Given the description of an element on the screen output the (x, y) to click on. 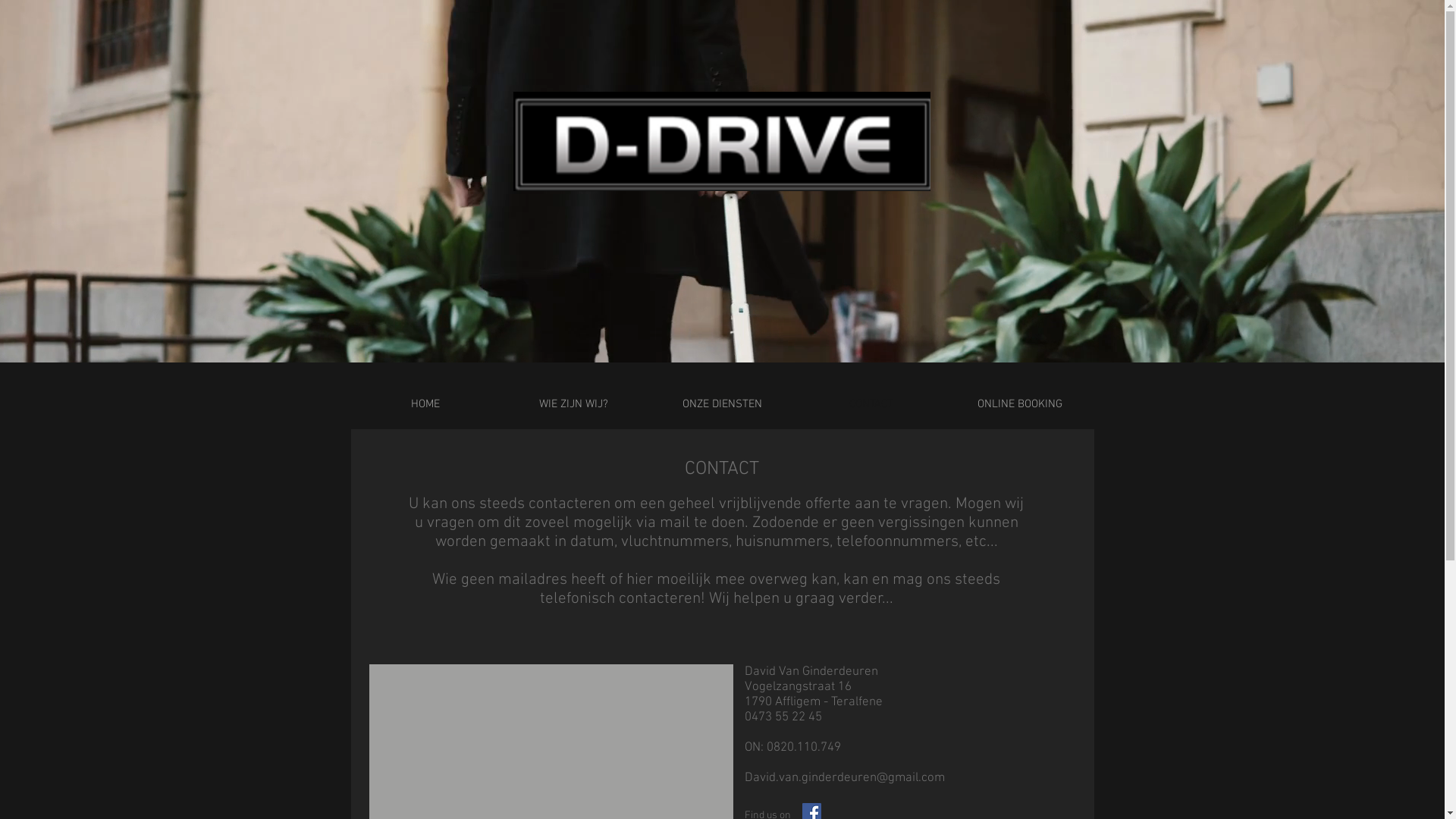
CONTACT Element type: text (870, 403)
David.van.ginderdeuren@gmail.com Element type: text (844, 777)
ONLINE BOOKING Element type: text (1018, 403)
WIE ZIJN WIJ? Element type: text (572, 403)
ONZE DIENSTEN Element type: text (721, 403)
HOME Element type: text (424, 403)
